Given the description of an element on the screen output the (x, y) to click on. 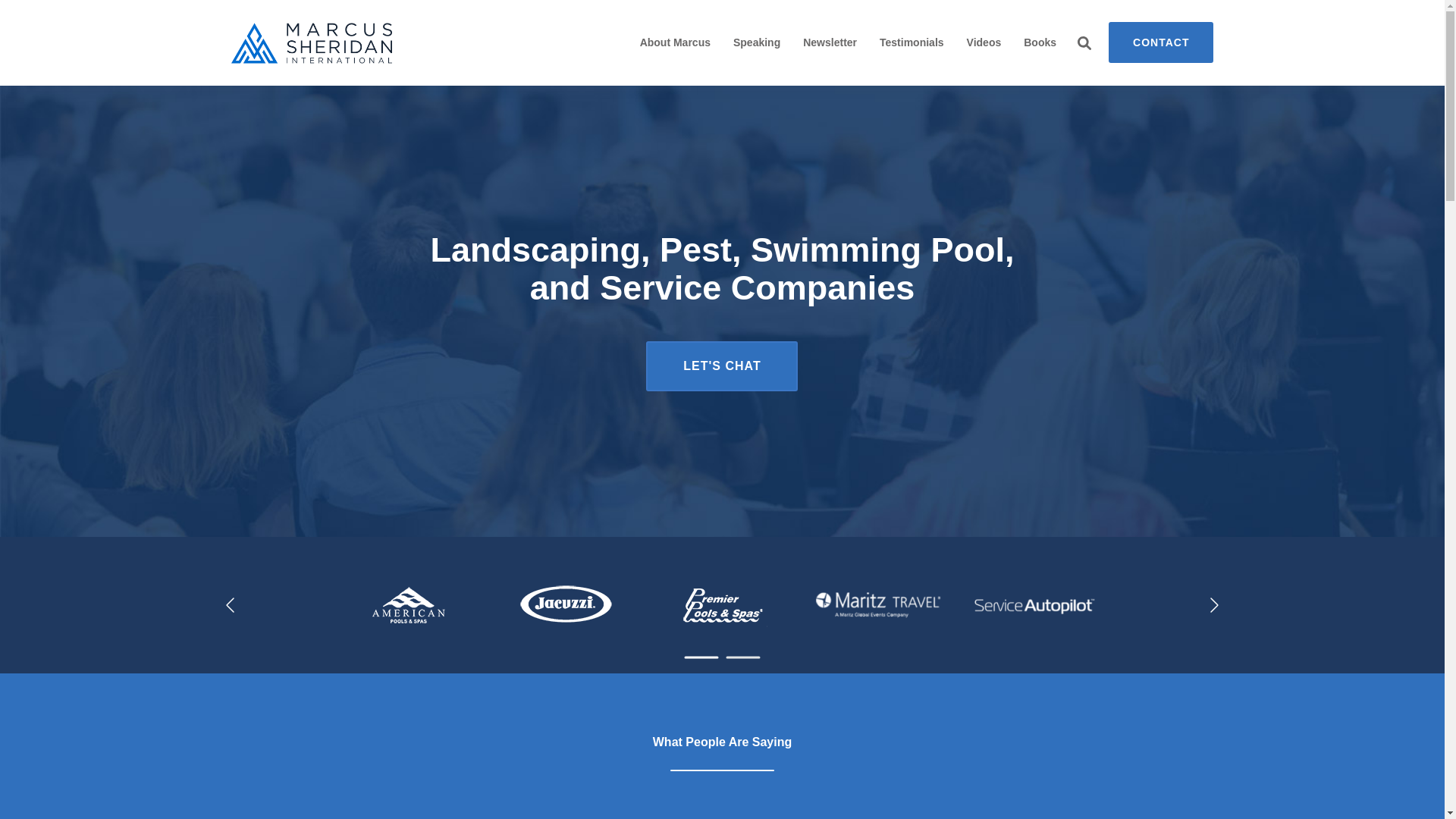
CONTACT (1160, 42)
Let's Chat (721, 366)
About Marcus (675, 42)
Newsletter (829, 42)
Speaking (757, 42)
Next slide (1213, 605)
LET'S CHAT (721, 366)
Open Search (1083, 42)
Previous slide (230, 605)
Testimonials (911, 42)
